Given the description of an element on the screen output the (x, y) to click on. 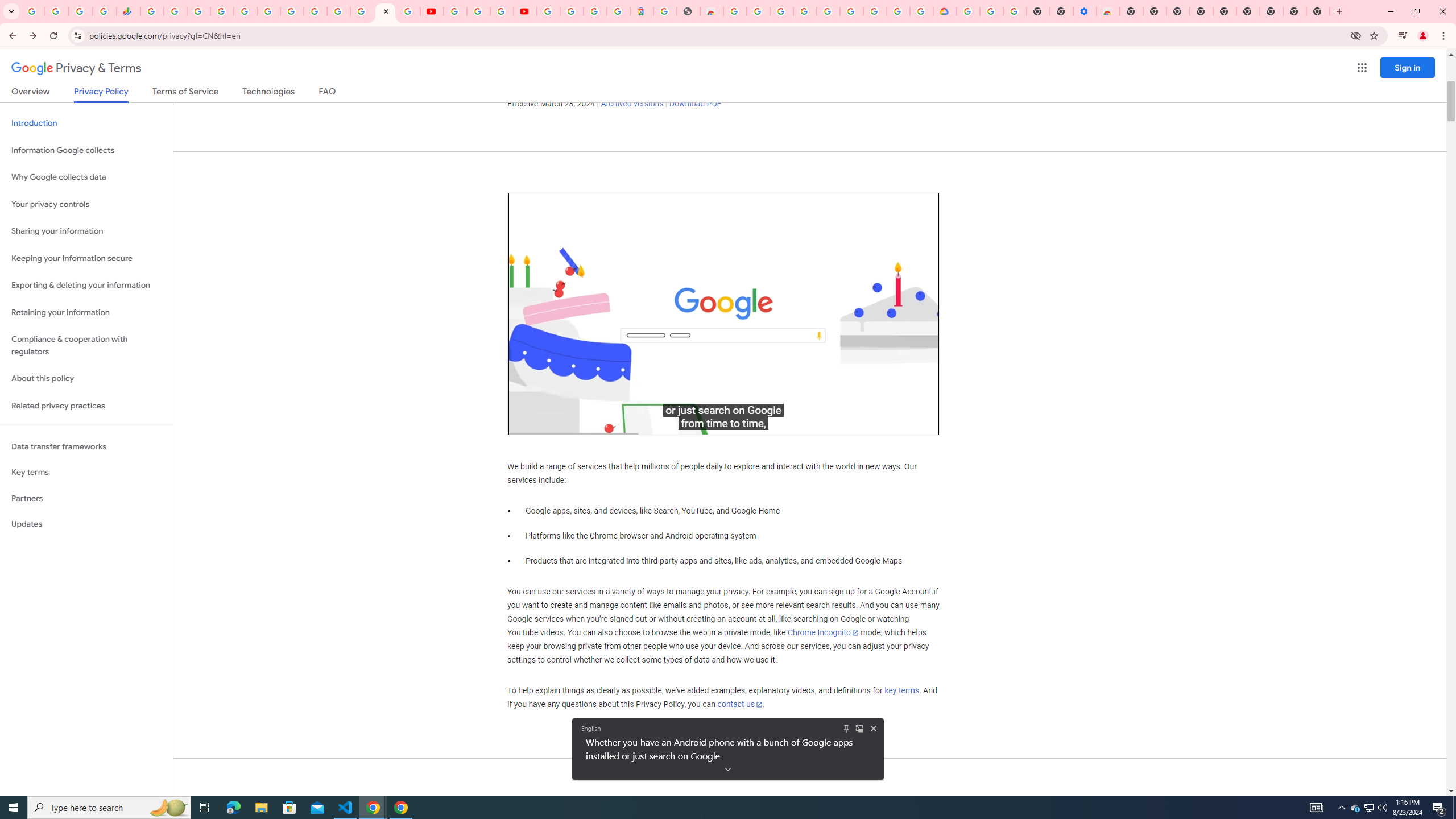
Partners (86, 497)
Privacy Checkup (408, 11)
Google Account Help (478, 11)
Ad Settings (804, 11)
Mute (m) (551, 422)
Download PDF (695, 103)
